Given the description of an element on the screen output the (x, y) to click on. 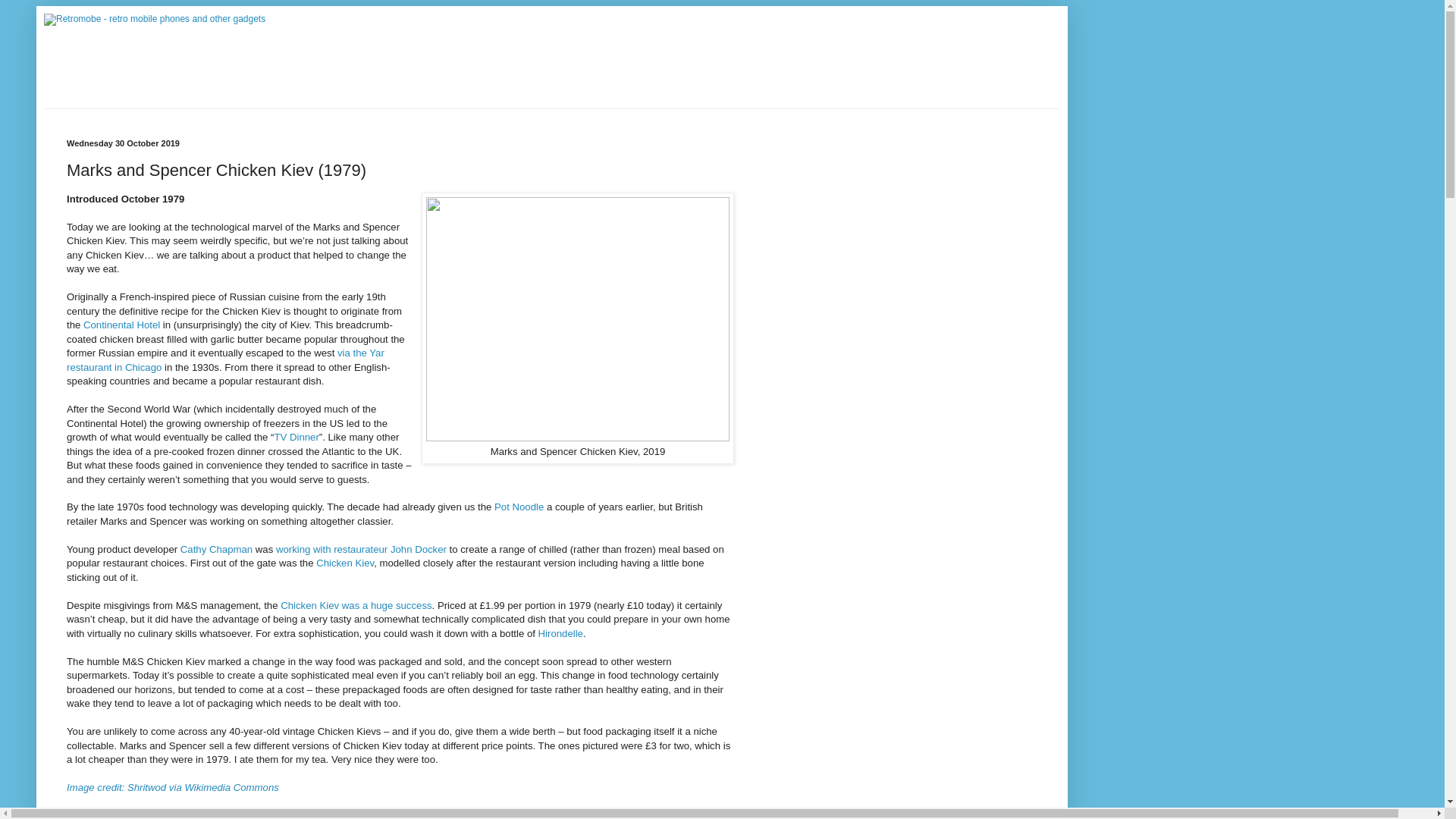
Pot Noodle (519, 506)
Hirondelle (560, 633)
Cathy Chapman (215, 549)
Chicken Kiev (344, 562)
Continental Hotel (121, 324)
via the Yar restaurant in Chicago (225, 359)
TV Dinner (295, 437)
Image credit: Shritwod via Wikimedia Commons (172, 787)
working with restaurateur John Docker (361, 549)
Chicken Kiev was a huge success (355, 604)
